Given the description of an element on the screen output the (x, y) to click on. 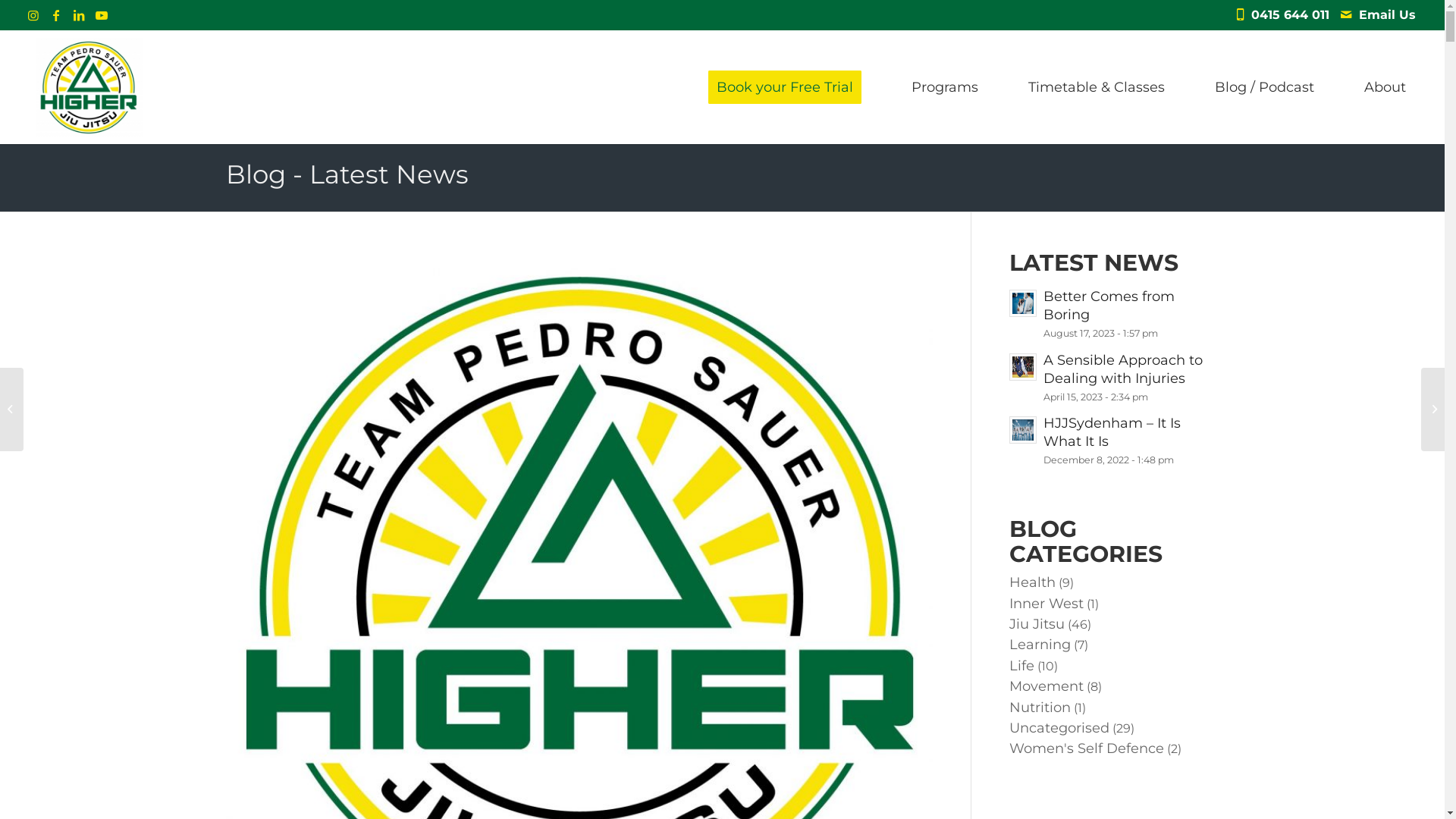
Timetable & Classes Element type: text (1096, 87)
Movement Element type: text (1046, 685)
Book your Free Trial Element type: text (784, 87)
Women's Self Defence Element type: text (1086, 748)
LinkedIn Element type: hover (78, 14)
Email Us Element type: text (1386, 14)
Health Element type: text (1032, 582)
HIGHER-JIU-JITSUoss Element type: hover (89, 87)
Better Comes from Boring Element type: text (1108, 305)
Inner West Element type: text (1046, 603)
Read: Better Comes from Boring Element type: hover (1022, 302)
Uncategorised Element type: text (1059, 727)
About Element type: text (1384, 87)
Blog - Latest News Element type: text (346, 174)
Programs Element type: text (944, 87)
Facebook Element type: hover (55, 14)
A Sensible Approach to Dealing with Injuries Element type: text (1122, 368)
Blog / Podcast Element type: text (1264, 87)
Life Element type: text (1021, 665)
Nutrition Element type: text (1039, 707)
Youtube Element type: hover (101, 14)
Learning Element type: text (1039, 644)
Read: A Sensible Approach to Dealing with Injuries Element type: hover (1022, 366)
Instagram Element type: hover (32, 14)
Jiu Jitsu Element type: text (1036, 623)
0415 644 011 Element type: text (1293, 14)
